Given the description of an element on the screen output the (x, y) to click on. 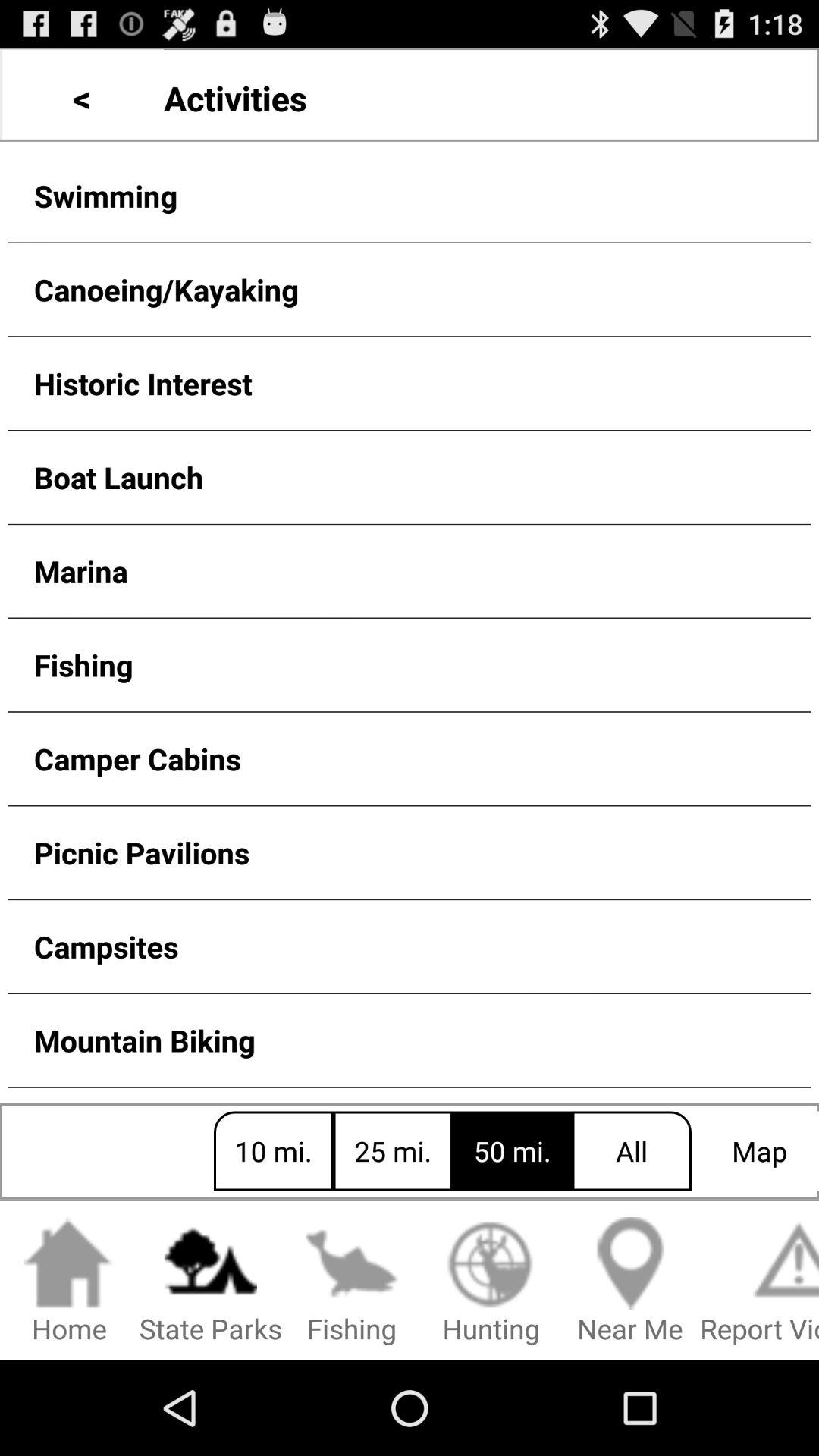
choose the icon next to the fishing (490, 1282)
